Given the description of an element on the screen output the (x, y) to click on. 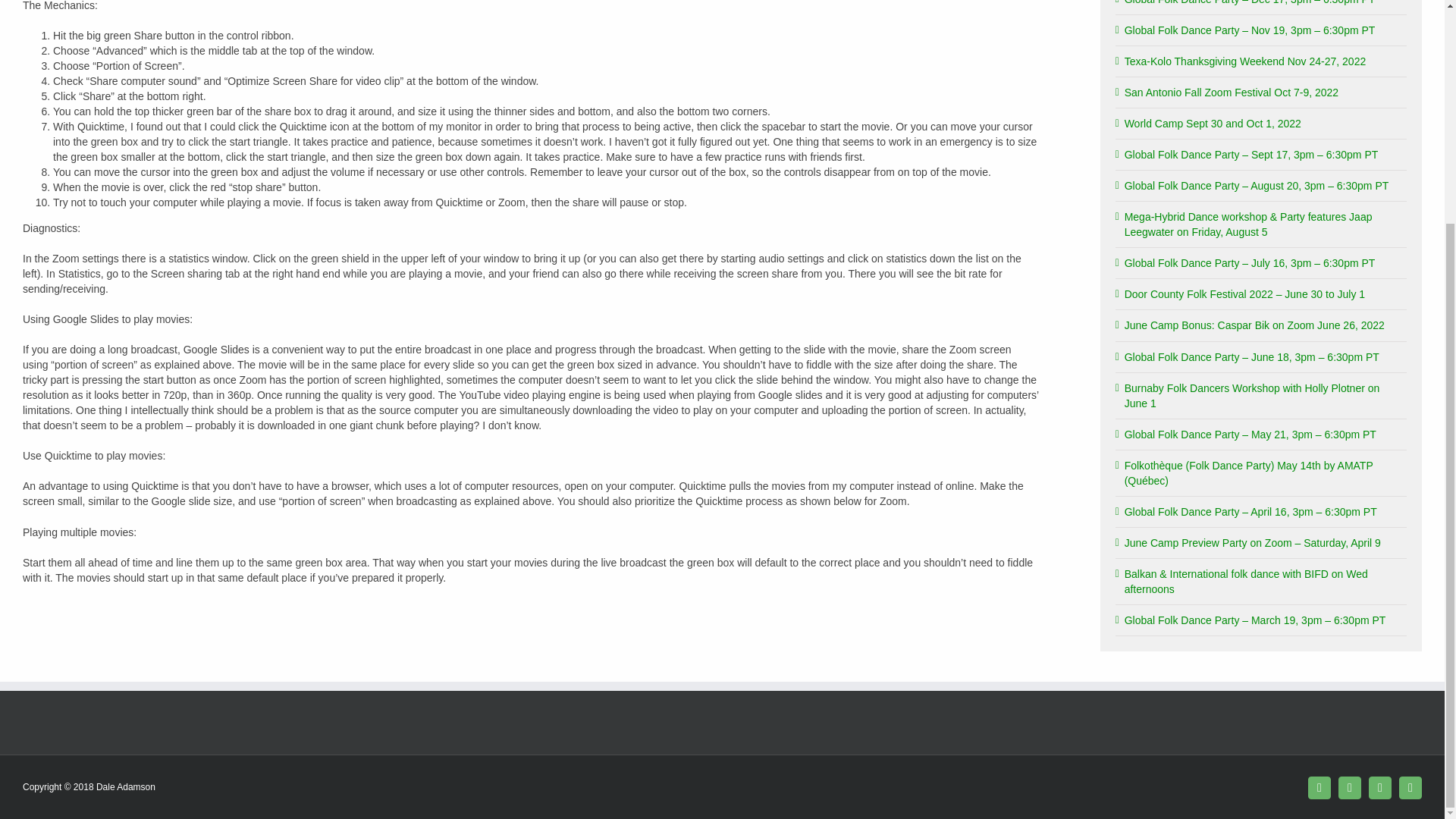
World Camp Sept 30 and Oct 1, 2022 (1212, 123)
Email (1379, 787)
Texa-Kolo Thanksgiving Weekend Nov 24-27, 2022 (1245, 61)
San Antonio Fall Zoom Festival Oct 7-9, 2022 (1231, 92)
YouTube (1410, 787)
Flickr (1349, 787)
Facebook (1318, 787)
